Given the description of an element on the screen output the (x, y) to click on. 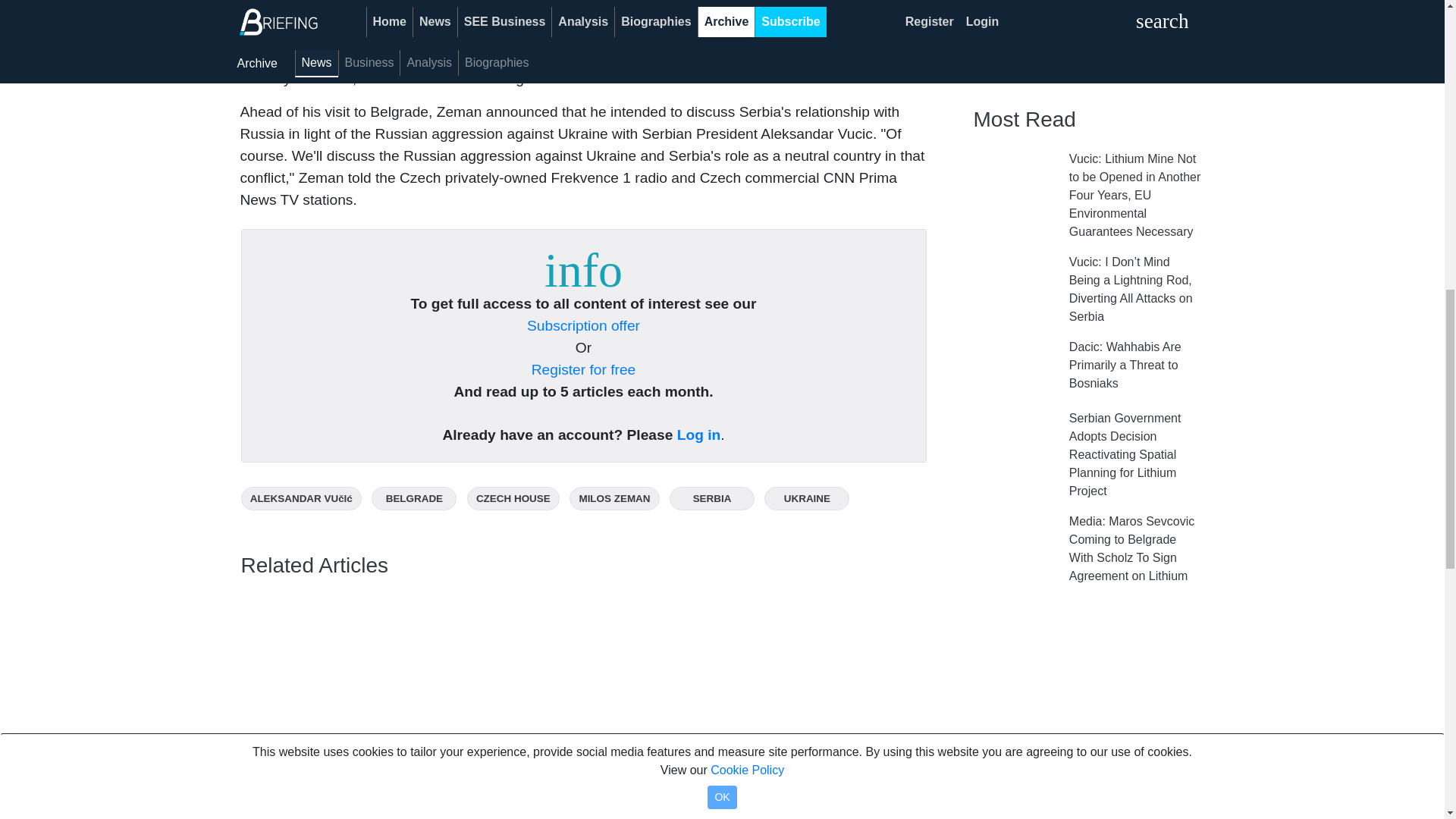
SERBIA (711, 498)
BELGRADE (414, 498)
MILOS ZEMAN (614, 498)
UKRAINE (806, 498)
CZECH HOUSE (513, 498)
Log in (698, 434)
Register for free (583, 369)
Subscription offer (583, 325)
